Given the description of an element on the screen output the (x, y) to click on. 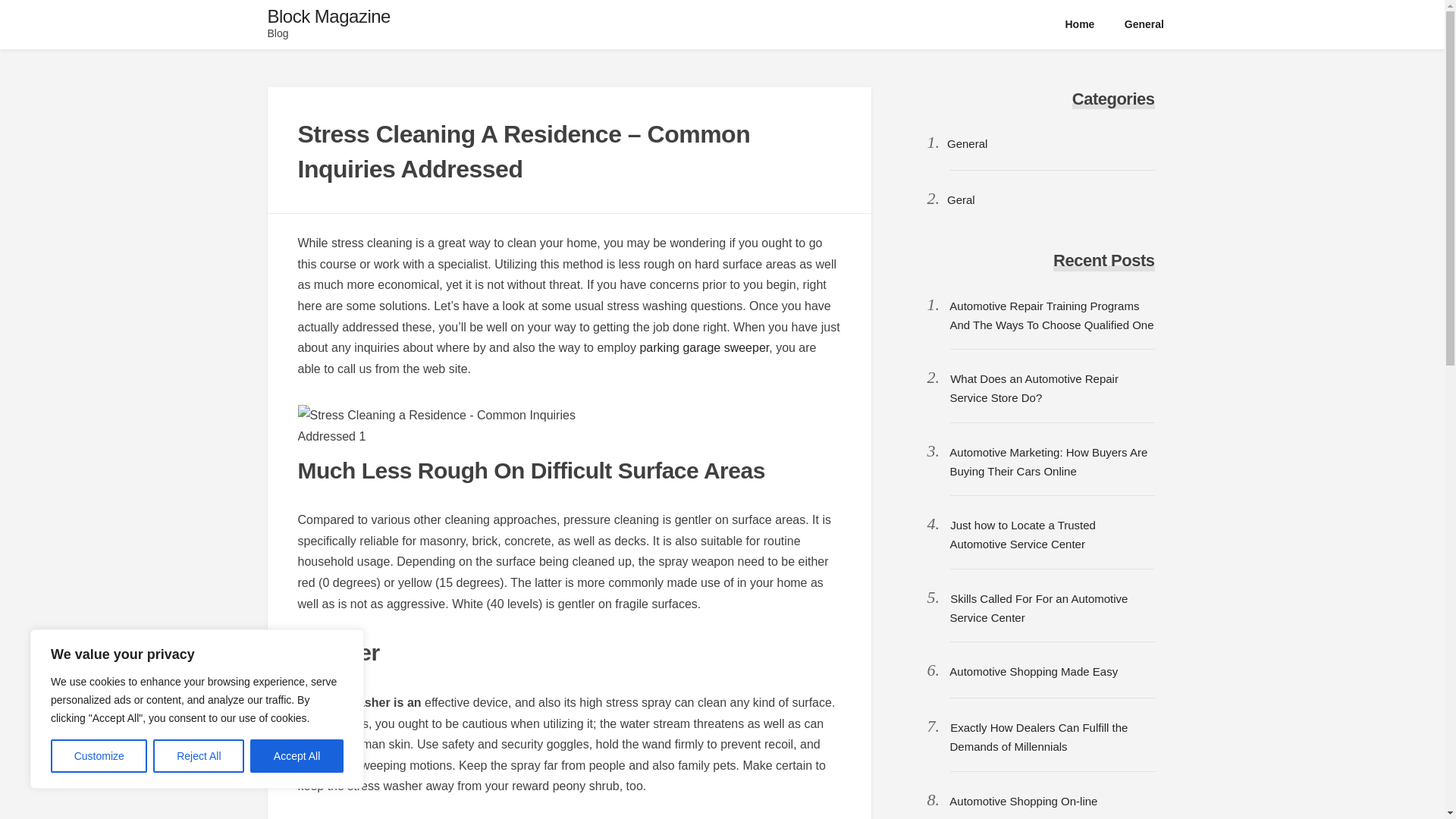
Block Magazine (328, 15)
Accept All (296, 756)
General (1143, 24)
Automotive Shopping On-line (1023, 800)
General (967, 143)
Reject All (198, 756)
Customize (98, 756)
Skills Called For For an Automotive Service Center (1037, 608)
Automotive Shopping Made Easy (1033, 671)
Home (1079, 24)
What Does an Automotive Repair Service Store Do? (1033, 388)
Geral (961, 199)
parking garage sweeper (703, 347)
